Given the description of an element on the screen output the (x, y) to click on. 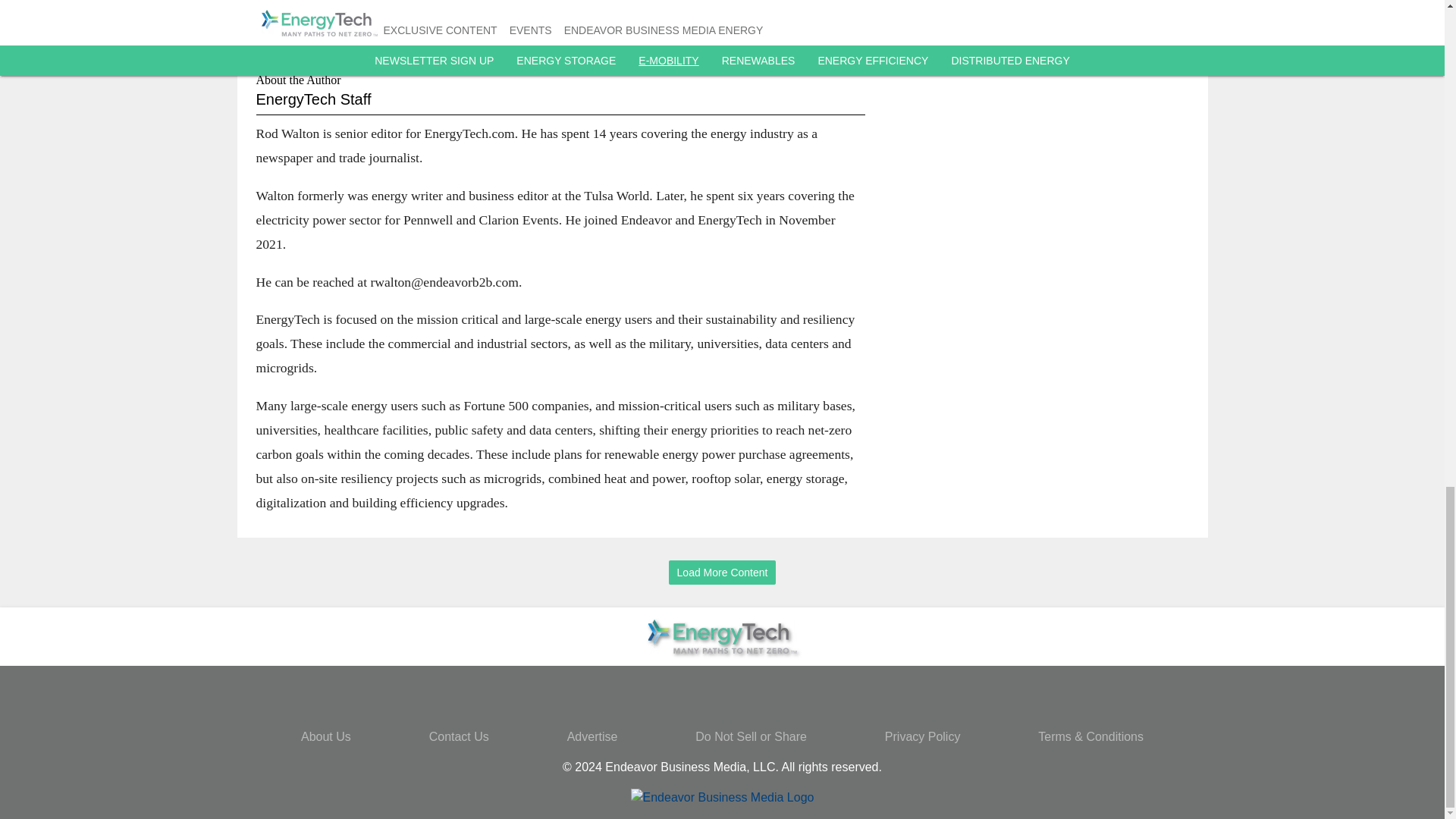
About Us (325, 736)
Contact Us (459, 736)
Load More Content (722, 572)
